Given the description of an element on the screen output the (x, y) to click on. 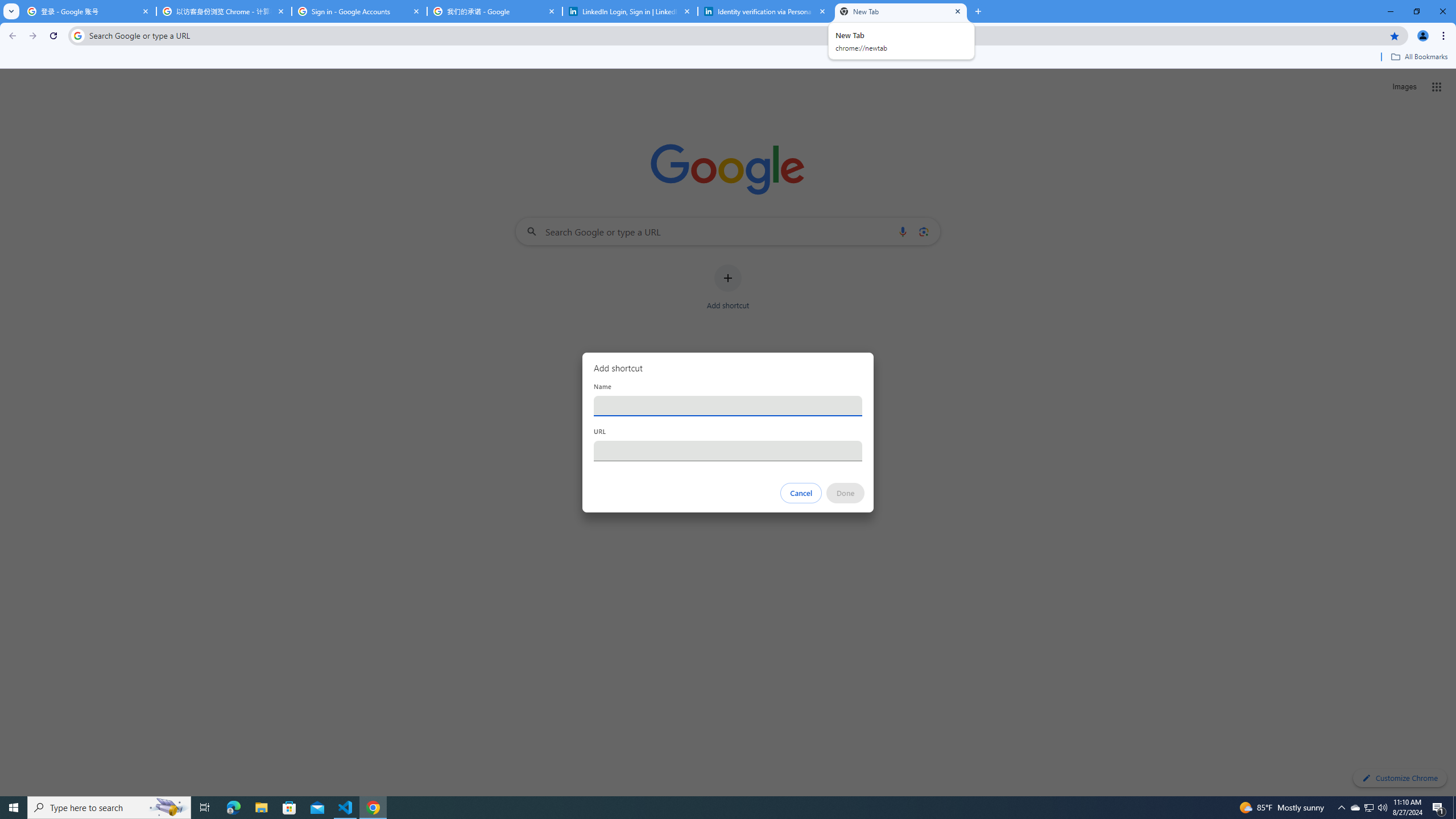
LinkedIn Login, Sign in | LinkedIn (630, 11)
Sign in - Google Accounts (359, 11)
Bookmarks (728, 58)
Name (727, 405)
